Given the description of an element on the screen output the (x, y) to click on. 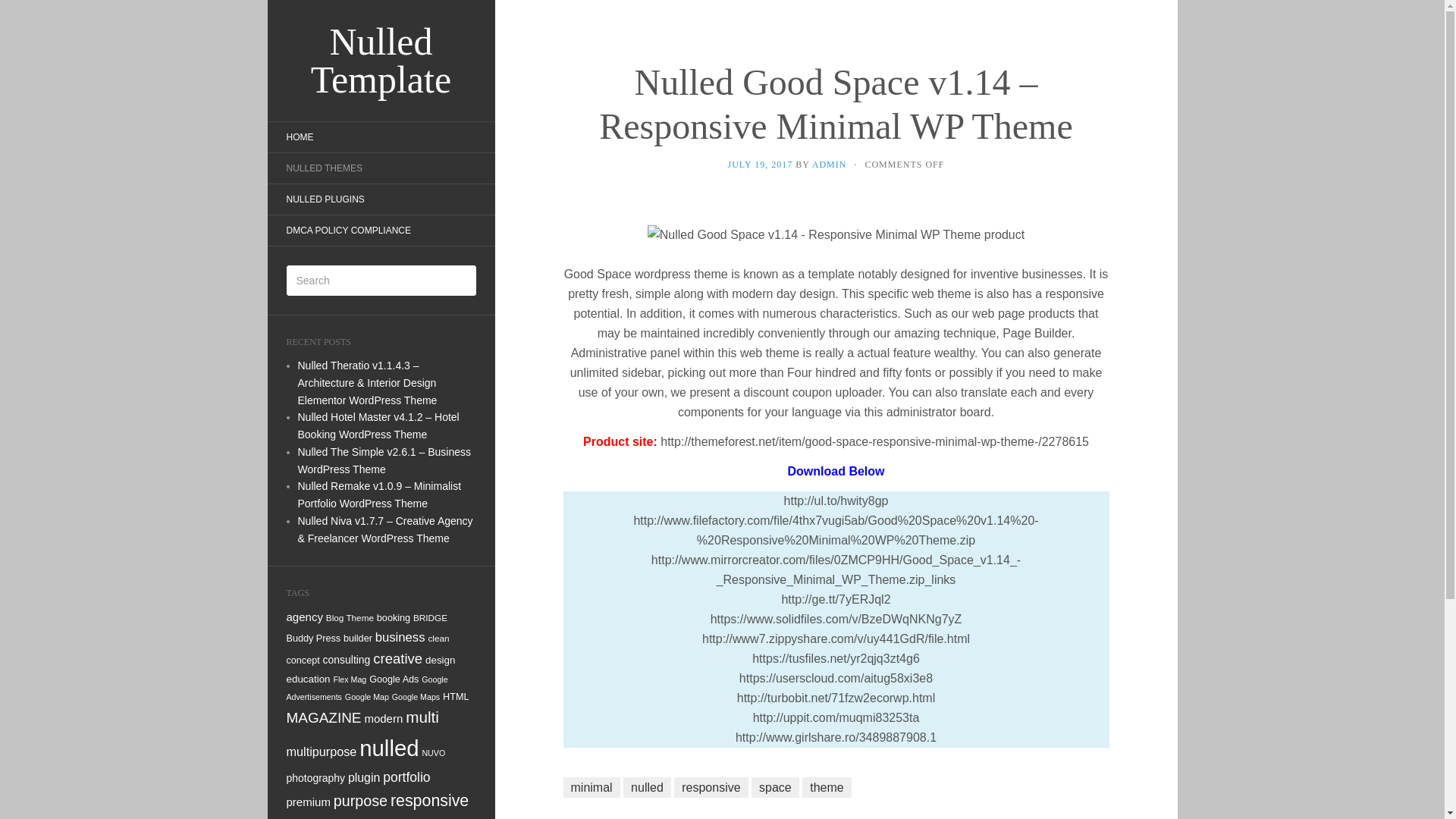
Buddy Press (313, 638)
Nulled Template (380, 60)
HTML (455, 696)
MAGAZINE (323, 717)
Google Maps (415, 696)
business (400, 636)
Flex Mag (349, 678)
Search (22, 11)
clean (438, 637)
Blog Theme (350, 617)
education (308, 678)
nulled (389, 747)
Google Advertisements (367, 687)
consulting (347, 659)
Google Ads (394, 679)
